Given the description of an element on the screen output the (x, y) to click on. 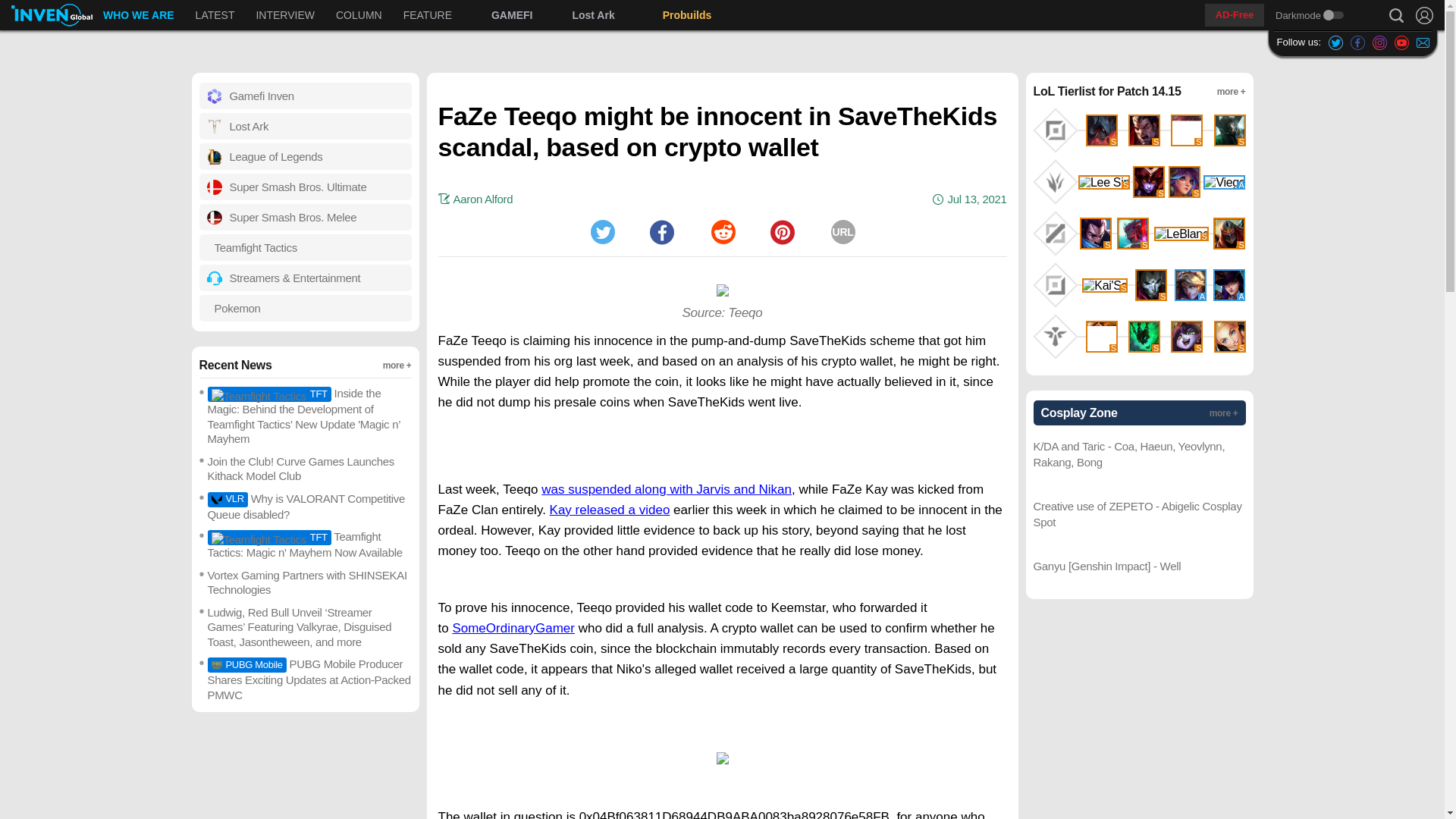
Inven Global (52, 15)
Inven Global Instagram (407, 15)
Kay released a video (1380, 42)
Inven Global Youtube (609, 509)
WHO WE ARE (1401, 42)
LATEST (138, 15)
was suspended along with Jarvis and Nikan (215, 15)
Login (666, 489)
Inven Global Twitter (1424, 15)
Inven Global Facebook (1334, 42)
Submit (1358, 42)
FEATURE (721, 232)
Tweet (428, 15)
Pinterest (601, 232)
